Given the description of an element on the screen output the (x, y) to click on. 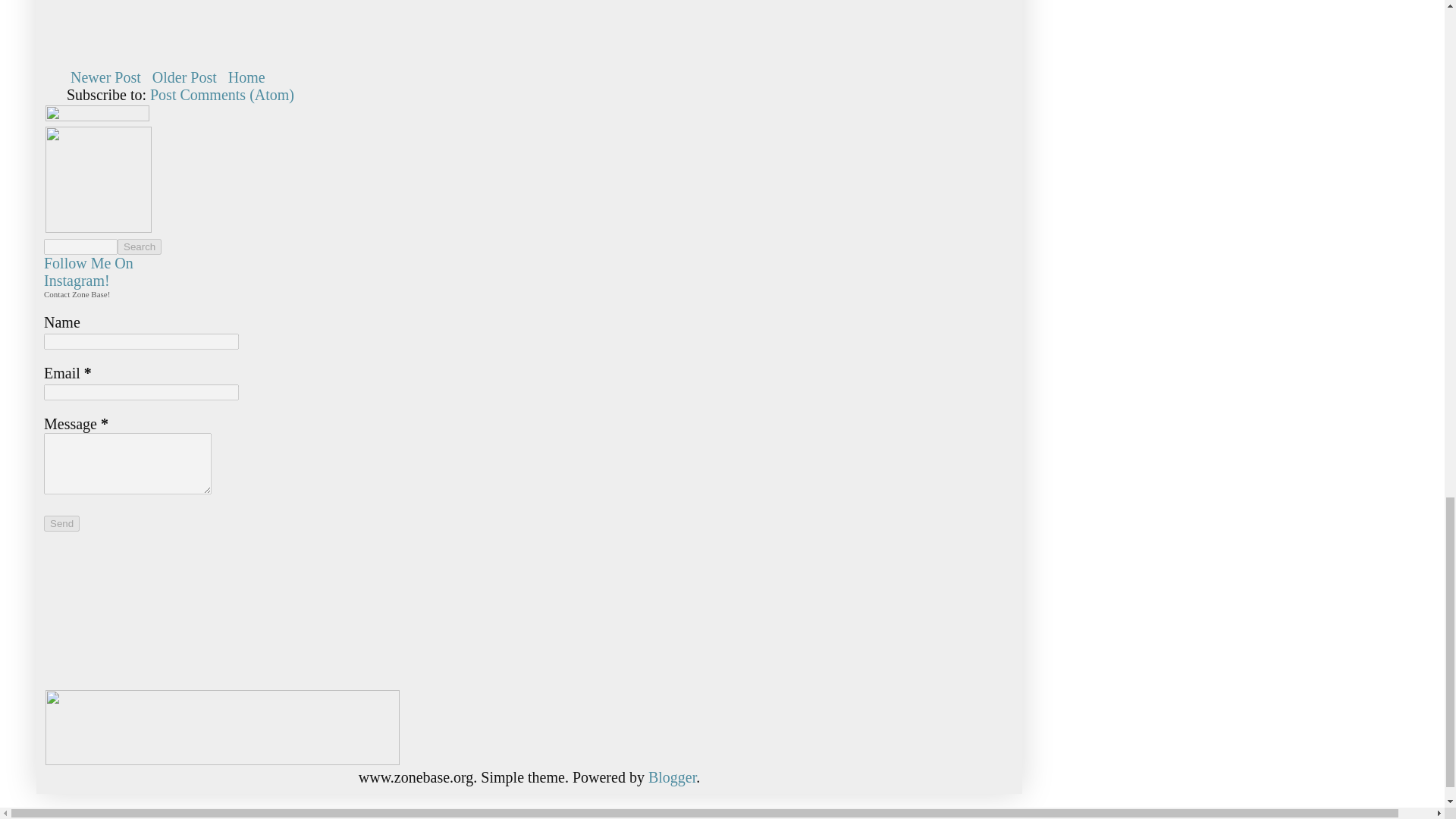
Newer Post (105, 77)
search (80, 246)
Search (139, 246)
Follow Me On Instagram! (88, 271)
Search (139, 246)
Send (61, 523)
Older Post (184, 77)
search (139, 246)
Home (246, 77)
Search (139, 246)
Older Post (184, 77)
Blogger (671, 777)
Newer Post (105, 77)
